Given the description of an element on the screen output the (x, y) to click on. 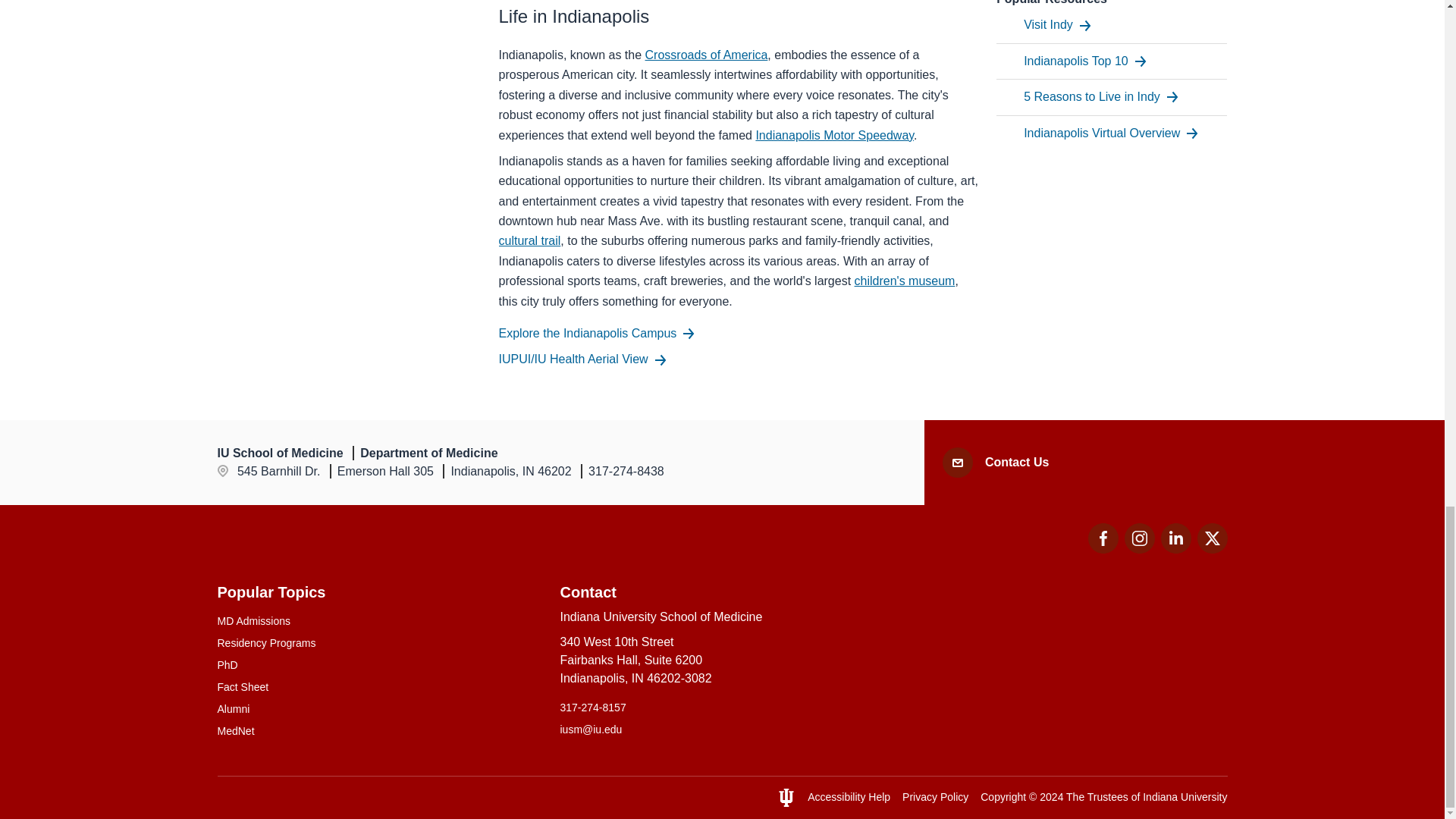
Indianapolis Top 10 (1085, 61)
Indianapolis Motor Speedway (834, 133)
LinkedIn (1175, 538)
Visit Indy (1056, 25)
Fact Sheet (378, 687)
5 Reasons to Live in Indy (1100, 96)
Crossroads of America (706, 54)
cultural trail (529, 240)
Accessibility Help (848, 797)
Indianapolis Virtual Overview (1110, 133)
Privacy Policy (935, 797)
Instagram (1139, 538)
Facebook (1102, 538)
Explore the Indianapolis Campus (597, 333)
Twitter (1211, 538)
